Given the description of an element on the screen output the (x, y) to click on. 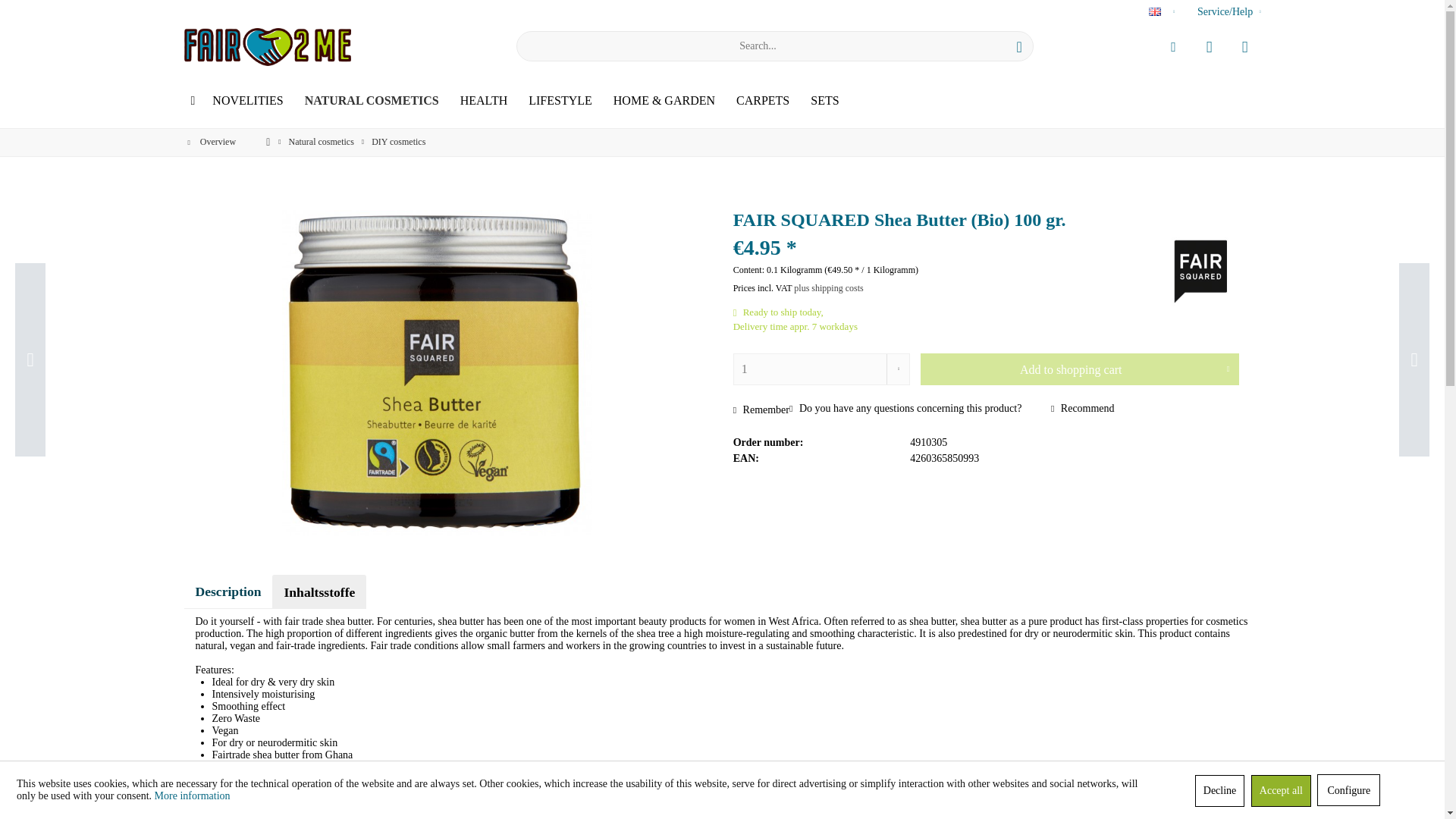
Customer account (1173, 46)
NATURAL COSMETICS (371, 101)
NOVELITIES (248, 101)
LIFESTYLE (560, 101)
SETS (823, 101)
CARPETS (762, 101)
NATURAL COSMETICS (371, 101)
CARPETS (762, 101)
Wish list (1208, 46)
fair2.me EN - Switch to homepage (266, 46)
HEALTH (483, 101)
LIFESTYLE (560, 101)
NOVELITIES (248, 101)
Shopping cart (1244, 46)
HEALTH (483, 101)
